Given the description of an element on the screen output the (x, y) to click on. 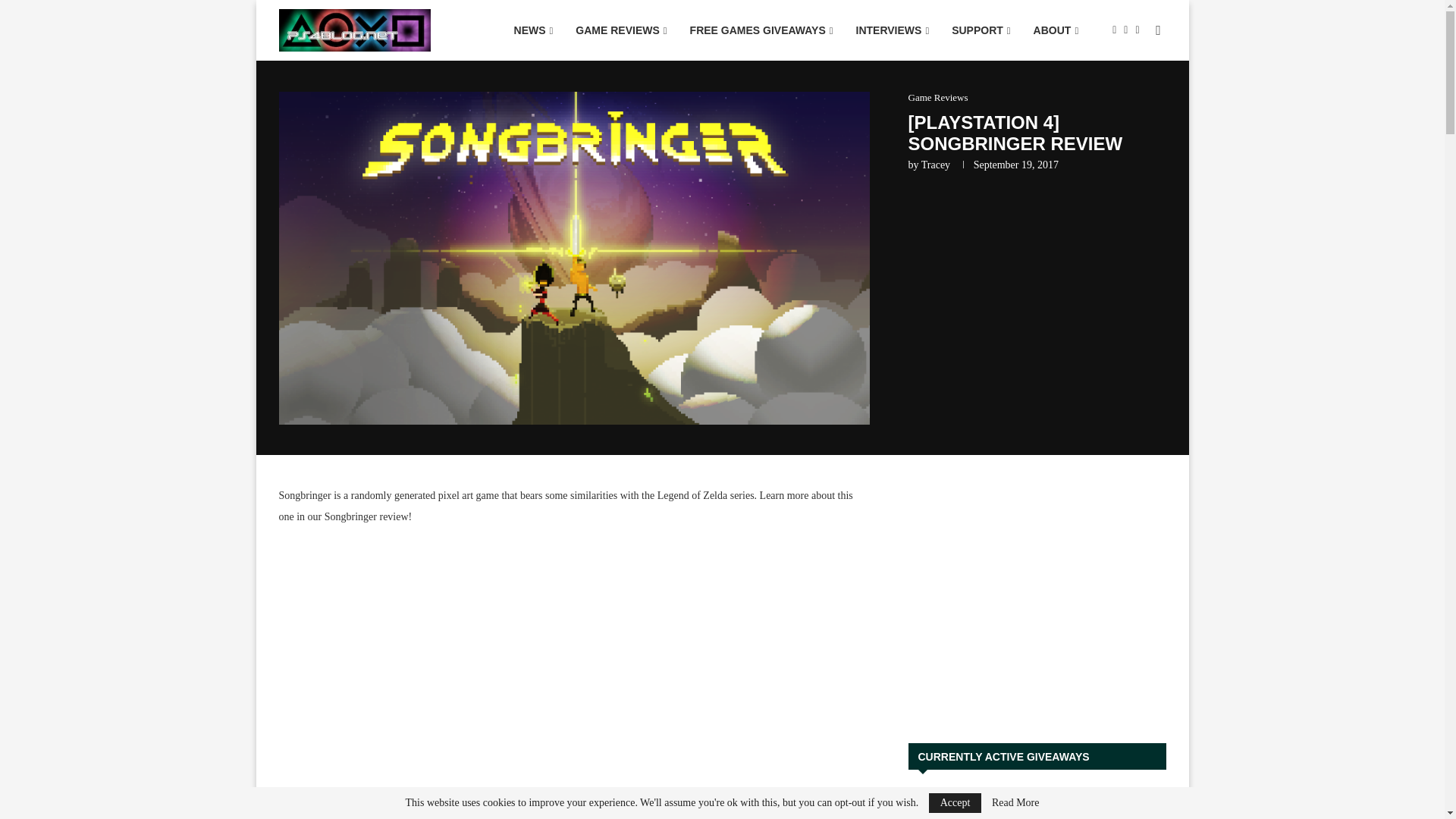
INTERVIEWS (892, 30)
FREE GAMES GIVEAWAYS (761, 30)
NEWS (533, 30)
GAME REVIEWS (621, 30)
